Given the description of an element on the screen output the (x, y) to click on. 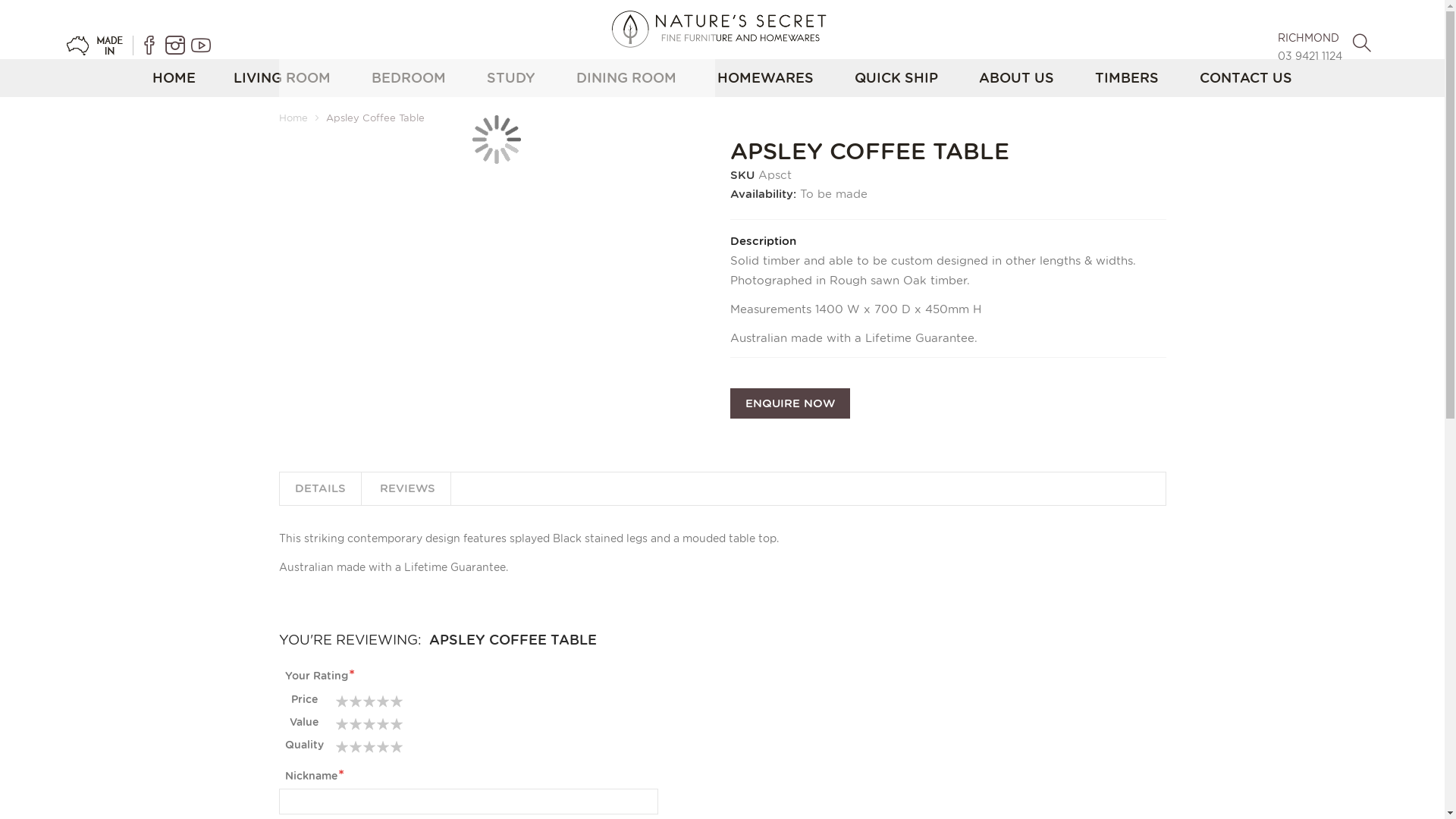
CONTACT US Element type: text (1245, 78)
HOME Element type: text (173, 78)
STUDY Element type: text (510, 78)
BEDROOM Element type: text (408, 78)
HOMEWARES Element type: text (765, 78)
REVIEWS Element type: text (406, 488)
TIMBERS Element type: text (1126, 78)
DINING ROOM Element type: text (626, 78)
ABOUT US Element type: text (1016, 78)
03 9421 1124 Element type: text (1309, 56)
LIVING ROOM Element type: text (281, 78)
ENQUIRE NOW Element type: text (789, 403)
Nature's Secret Element type: hover (722, 28)
Home Element type: text (293, 118)
DETAILS Element type: text (319, 488)
QUICK SHIP Element type: text (896, 78)
